Given the description of an element on the screen output the (x, y) to click on. 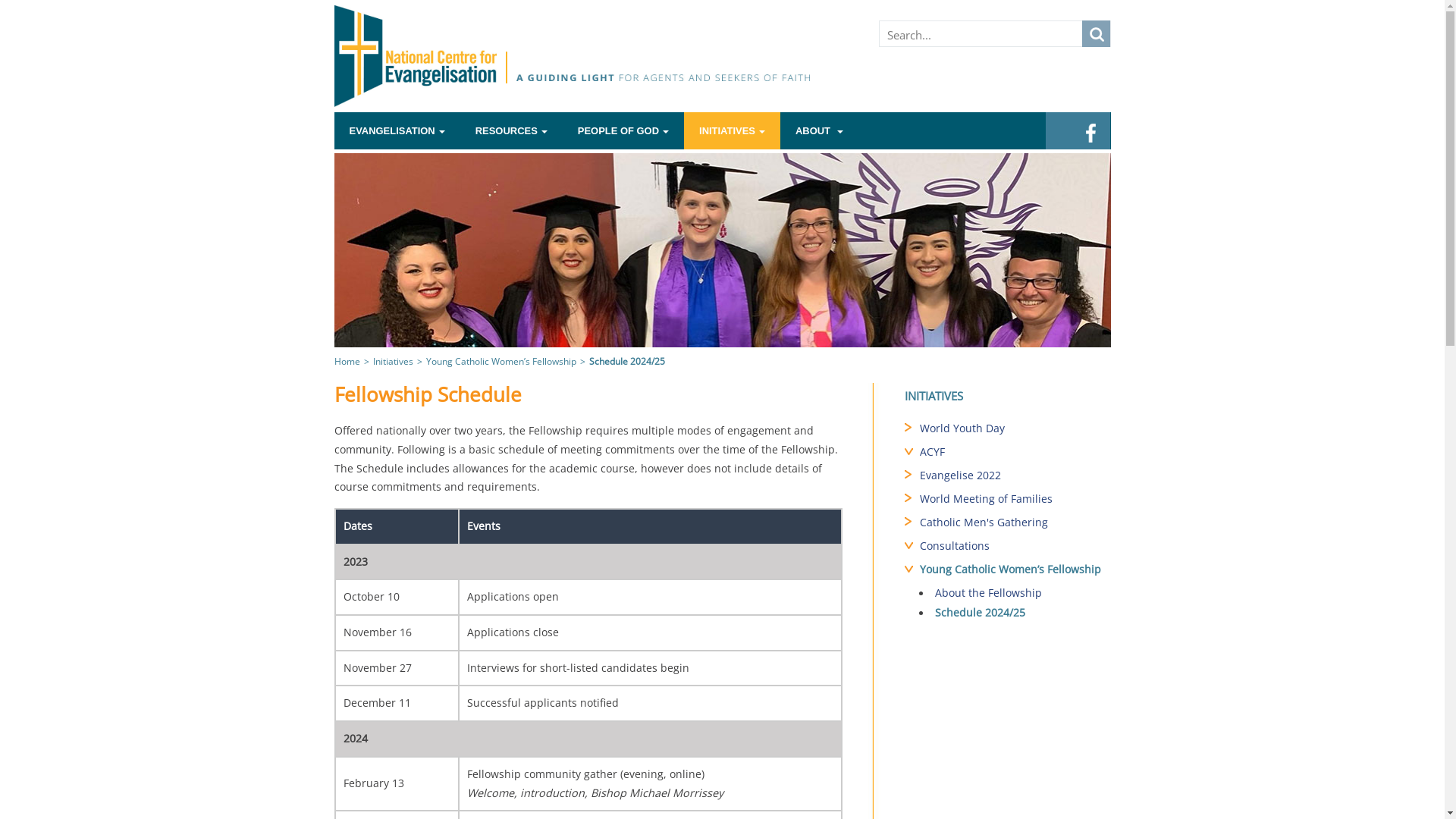
SEARCH Element type: text (1095, 33)
About the Fellowship Element type: text (1015, 594)
Evangelise 2022 Element type: text (1014, 476)
ACYF Element type: text (1014, 453)
World Youth Day Element type: text (1014, 429)
Schedule 2024/25 Element type: text (1015, 614)
Catholic Men's Gathering Element type: text (1014, 523)
Consultations Element type: text (1014, 547)
World Meeting of Families Element type: text (1014, 500)
Home Element type: text (346, 360)
